Given the description of an element on the screen output the (x, y) to click on. 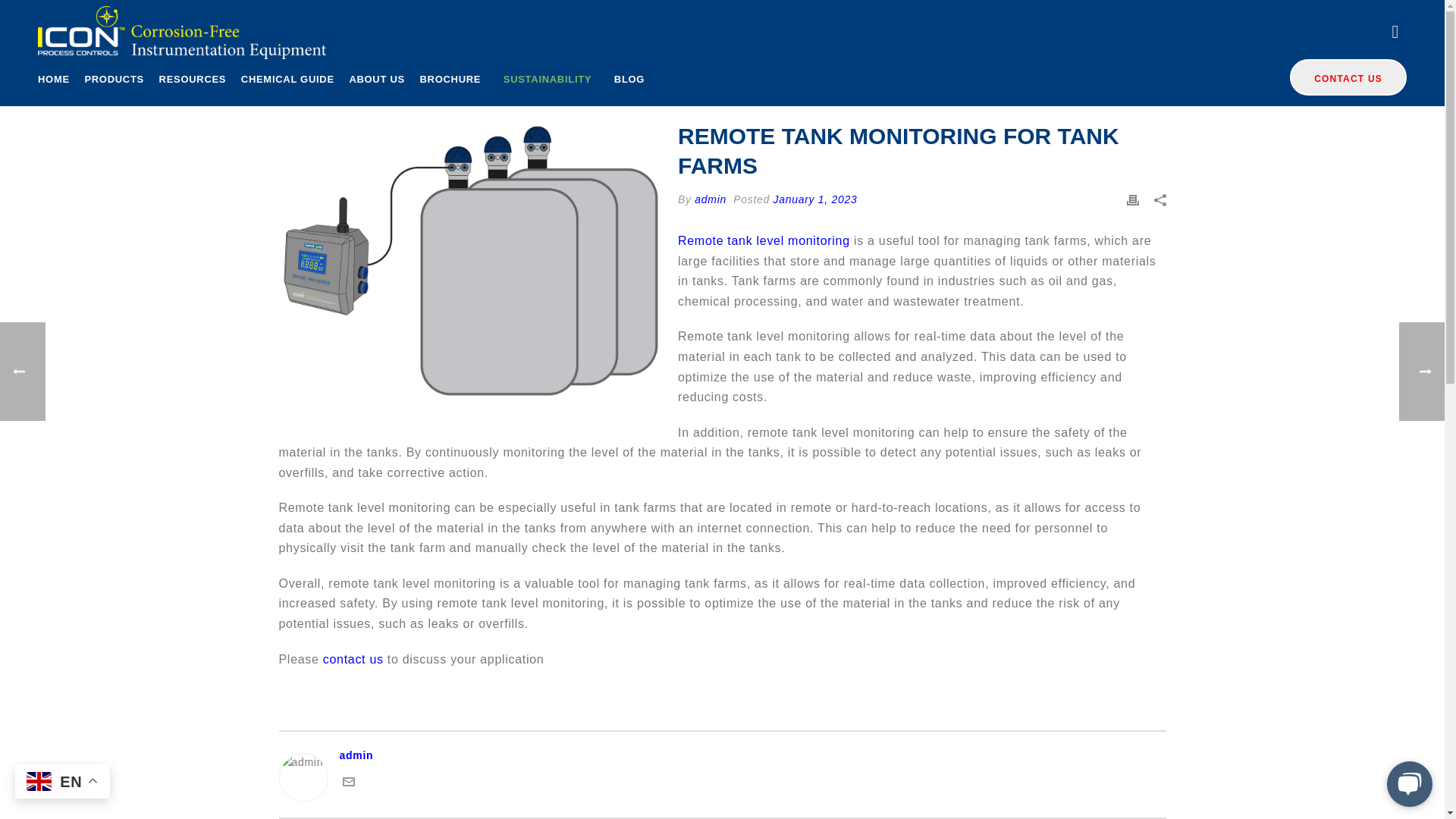
CHEMICAL GUIDE (287, 81)
Posts by admin (710, 199)
RESOURCES (192, 81)
admin (722, 755)
CONTACT US (1348, 76)
Remote tank level monitoring (764, 240)
admin (710, 199)
Remote Tank Monitoring for Tank Farms (471, 260)
HOME (53, 81)
